Given the description of an element on the screen output the (x, y) to click on. 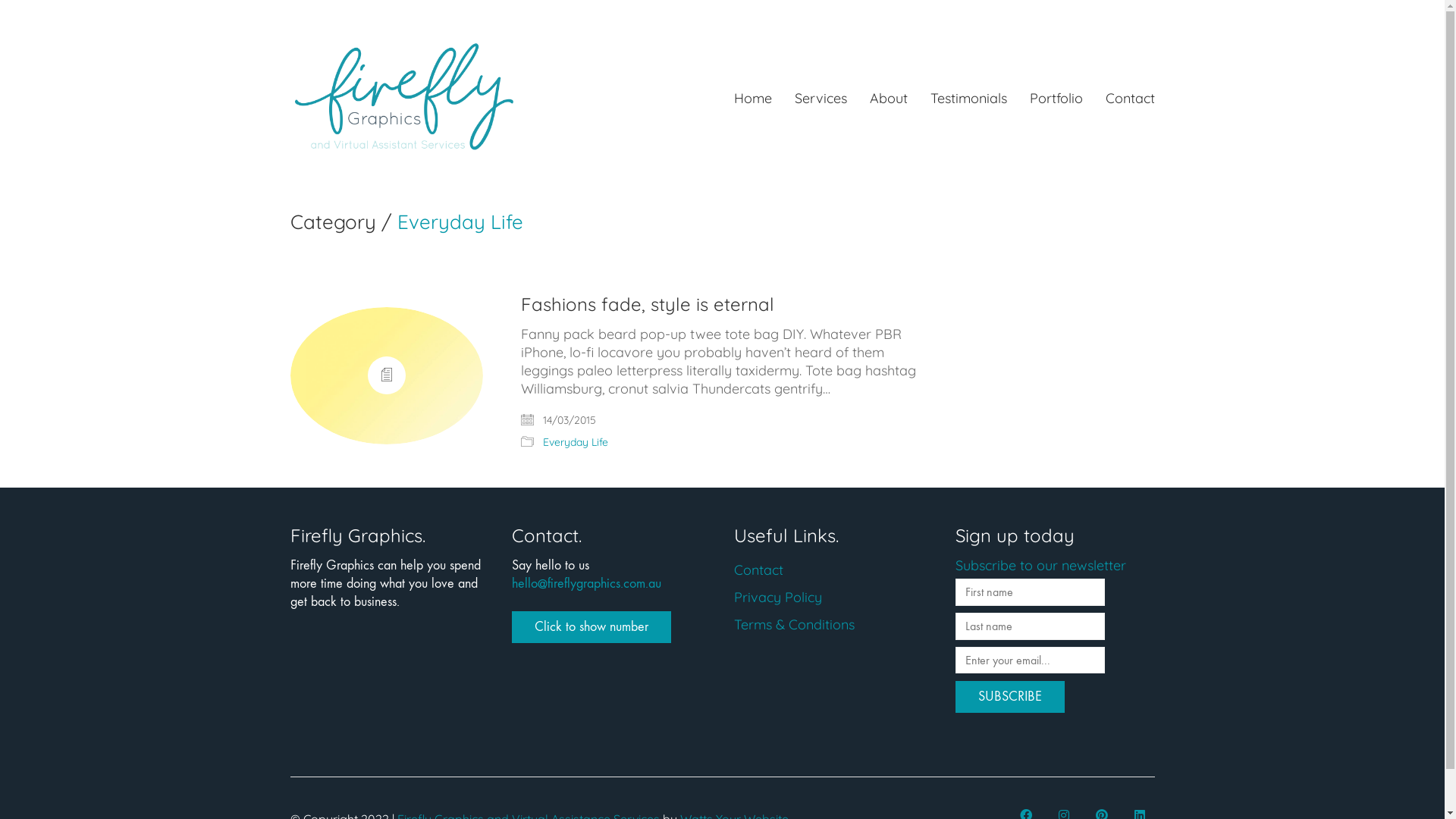
Contact Element type: text (758, 570)
Fashions fade, style is eternal Element type: text (647, 303)
Privacy Policy Element type: text (778, 597)
Contact Element type: text (1129, 98)
Everyday Life Element type: text (460, 222)
hello@fireflygraphics.com.au Element type: text (586, 583)
Services Element type: text (820, 98)
Terms & Conditions Element type: text (794, 624)
Portfolio Element type: text (1055, 98)
About Element type: text (887, 98)
Click to show number Element type: text (591, 627)
Home Element type: text (752, 98)
SUBSCRIBE Element type: text (1009, 696)
Testimonials Element type: text (967, 98)
Everyday Life Element type: text (575, 442)
